Given the description of an element on the screen output the (x, y) to click on. 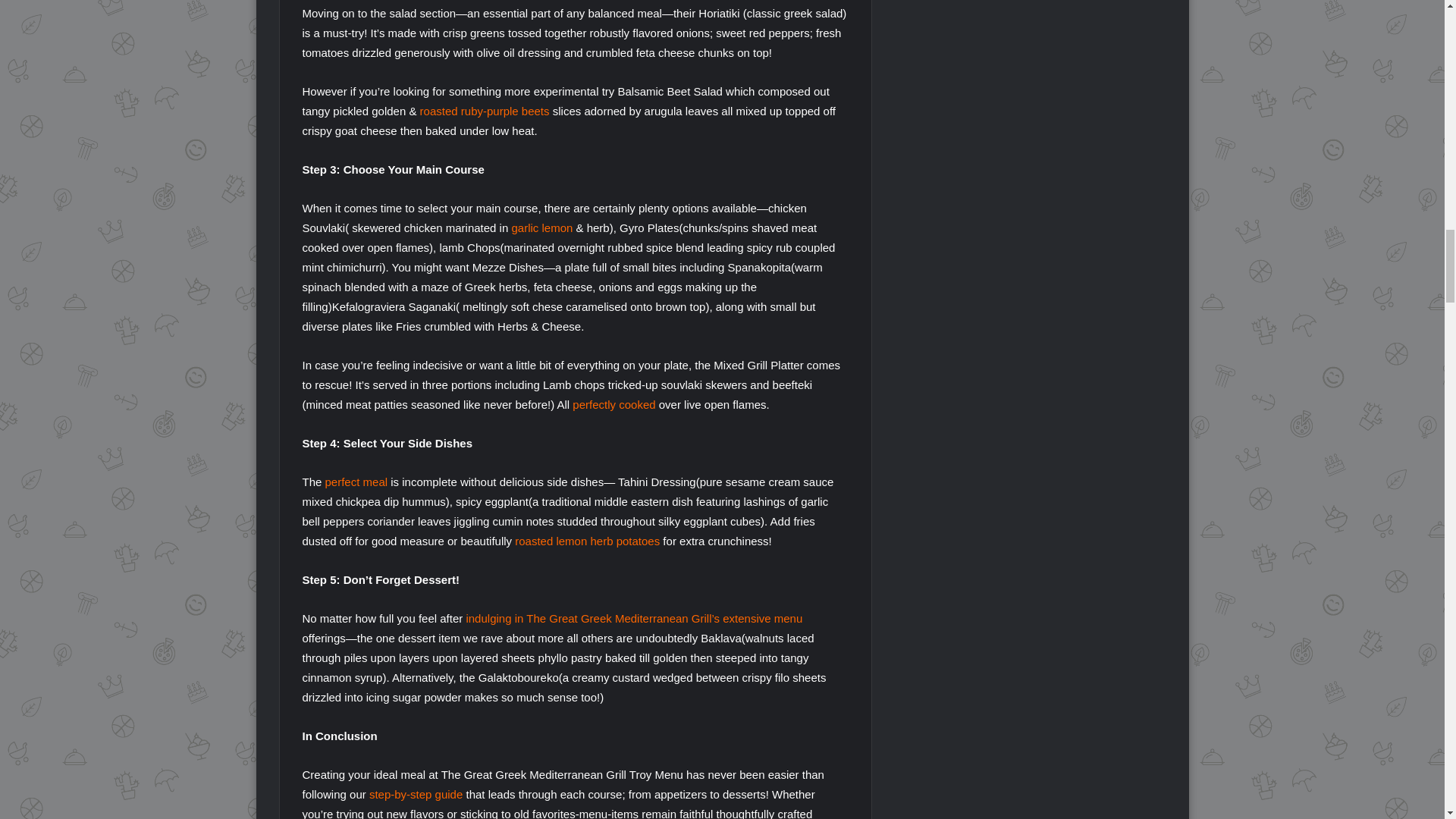
garlic lemon (541, 227)
step-by-step guide (416, 793)
roasted ruby-purple beets (485, 110)
perfect meal (356, 481)
roasted lemon herb potatoes (587, 540)
perfectly cooked (613, 404)
